Given the description of an element on the screen output the (x, y) to click on. 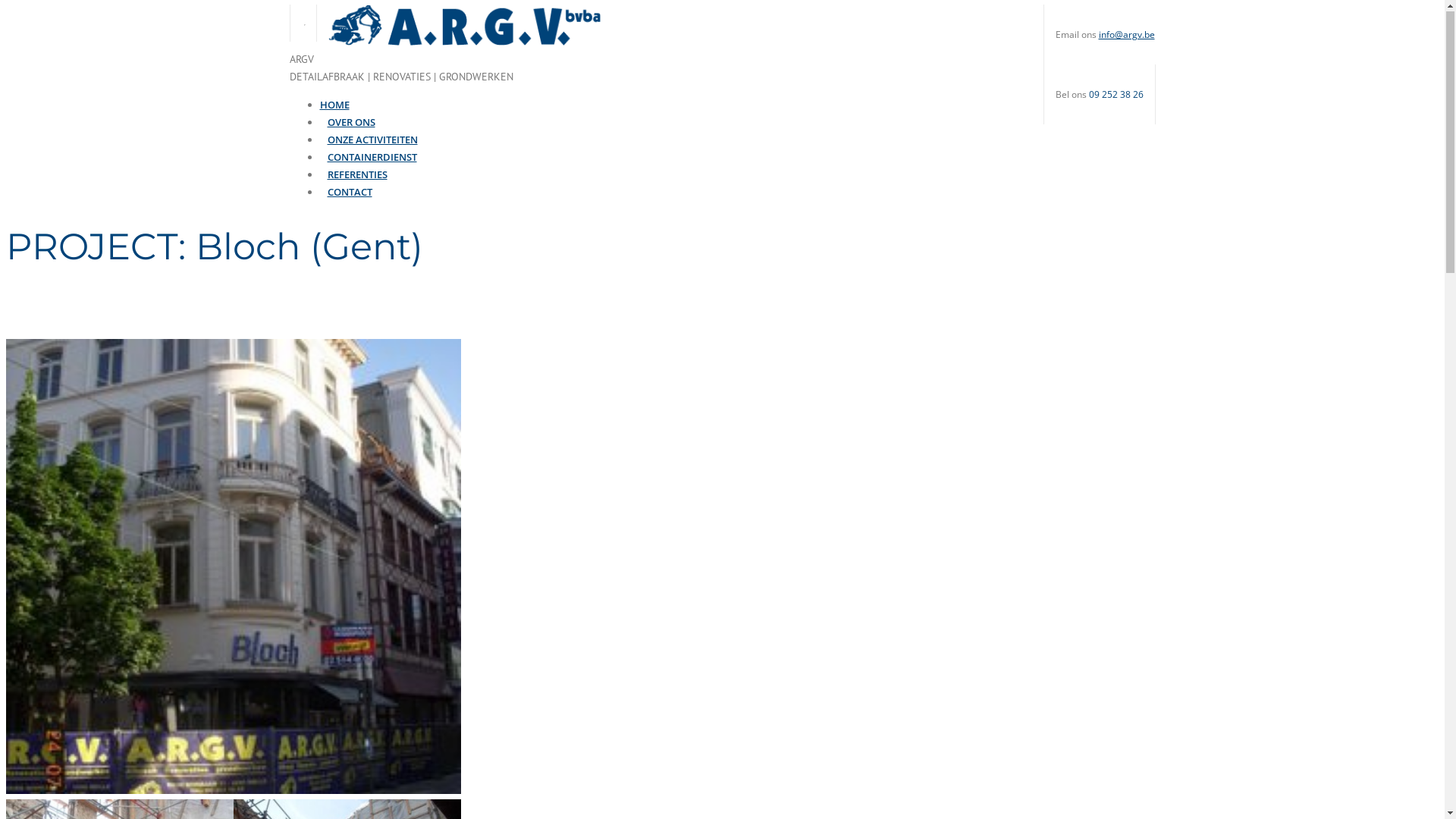
info@argv.be Element type: text (1126, 35)
CONTACT Element type: text (349, 178)
REFERENTIES Element type: text (357, 160)
Google+ Element type: hover (304, 24)
CONTAINERDIENST Element type: text (372, 143)
OVER ONS Element type: text (351, 108)
ONZE ACTIVITEITEN Element type: text (372, 125)
HOME Element type: text (334, 90)
Strippen Bloch Element type: hover (233, 791)
